Given the description of an element on the screen output the (x, y) to click on. 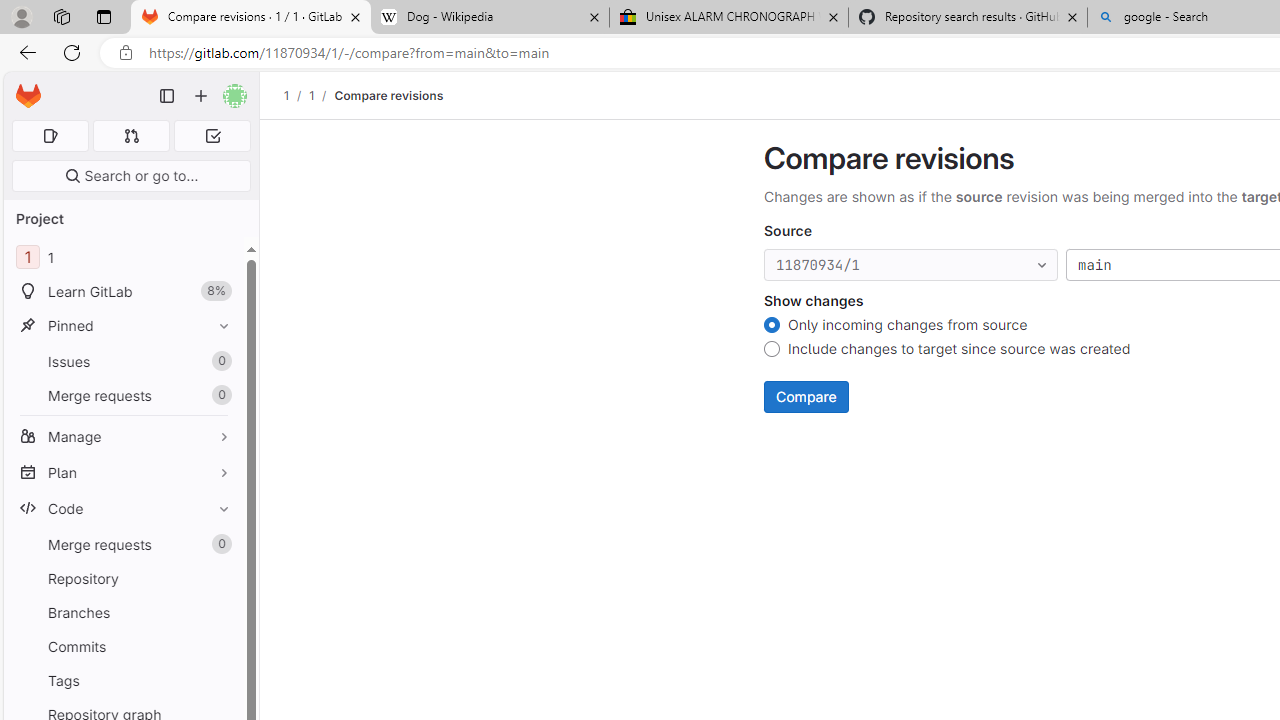
Tags (123, 679)
To-Do list 0 (212, 136)
Unpin Issues (219, 361)
Issues 0 (123, 361)
Plan (123, 471)
Plan (123, 471)
Tags (123, 679)
Code (123, 507)
Branches (123, 612)
1/ (321, 95)
Manage (123, 435)
Compare revisions (389, 95)
